Given the description of an element on the screen output the (x, y) to click on. 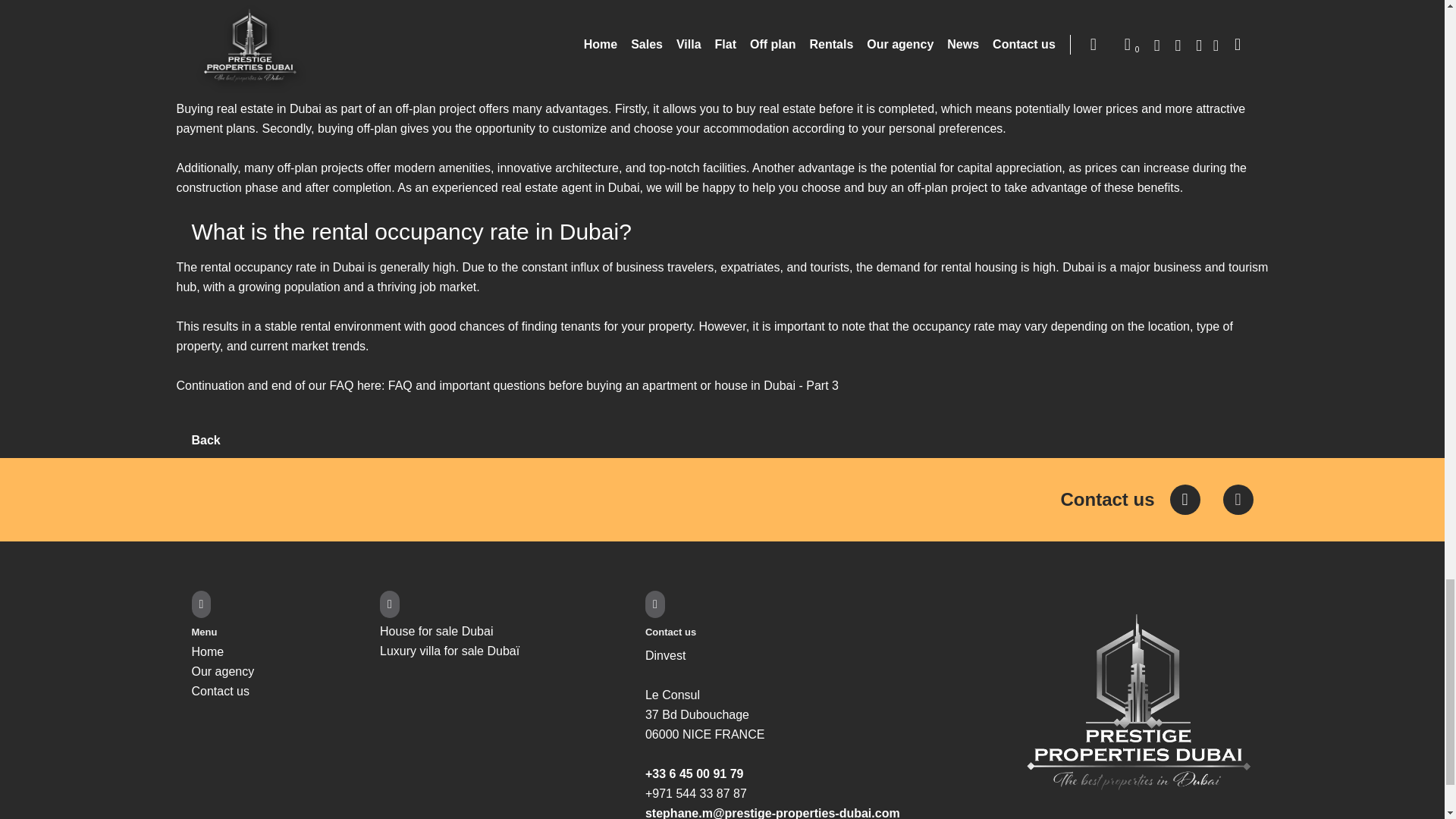
House for sale Dubai (436, 631)
Contact us (219, 690)
Home (207, 651)
Contact us (1129, 499)
Our agency (221, 671)
Dinvest (665, 655)
Back (205, 440)
